Given the description of an element on the screen output the (x, y) to click on. 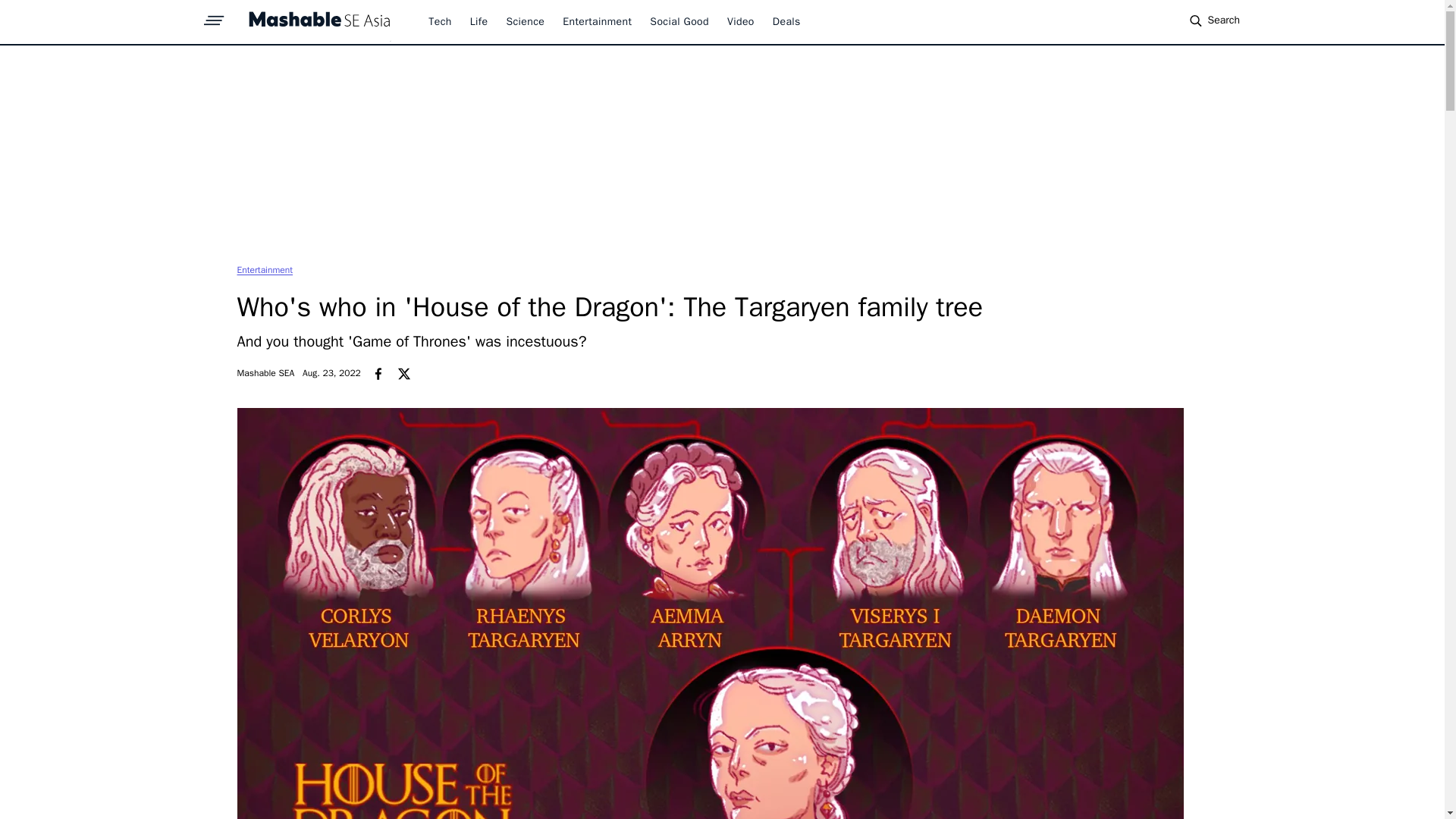
sprite-hamburger (213, 16)
Entertainment (263, 269)
Tech (439, 21)
Entertainment (596, 21)
Deals (786, 21)
Science (524, 21)
Social Good (679, 21)
Life (478, 21)
Video (740, 21)
Entertainment (263, 269)
